Given the description of an element on the screen output the (x, y) to click on. 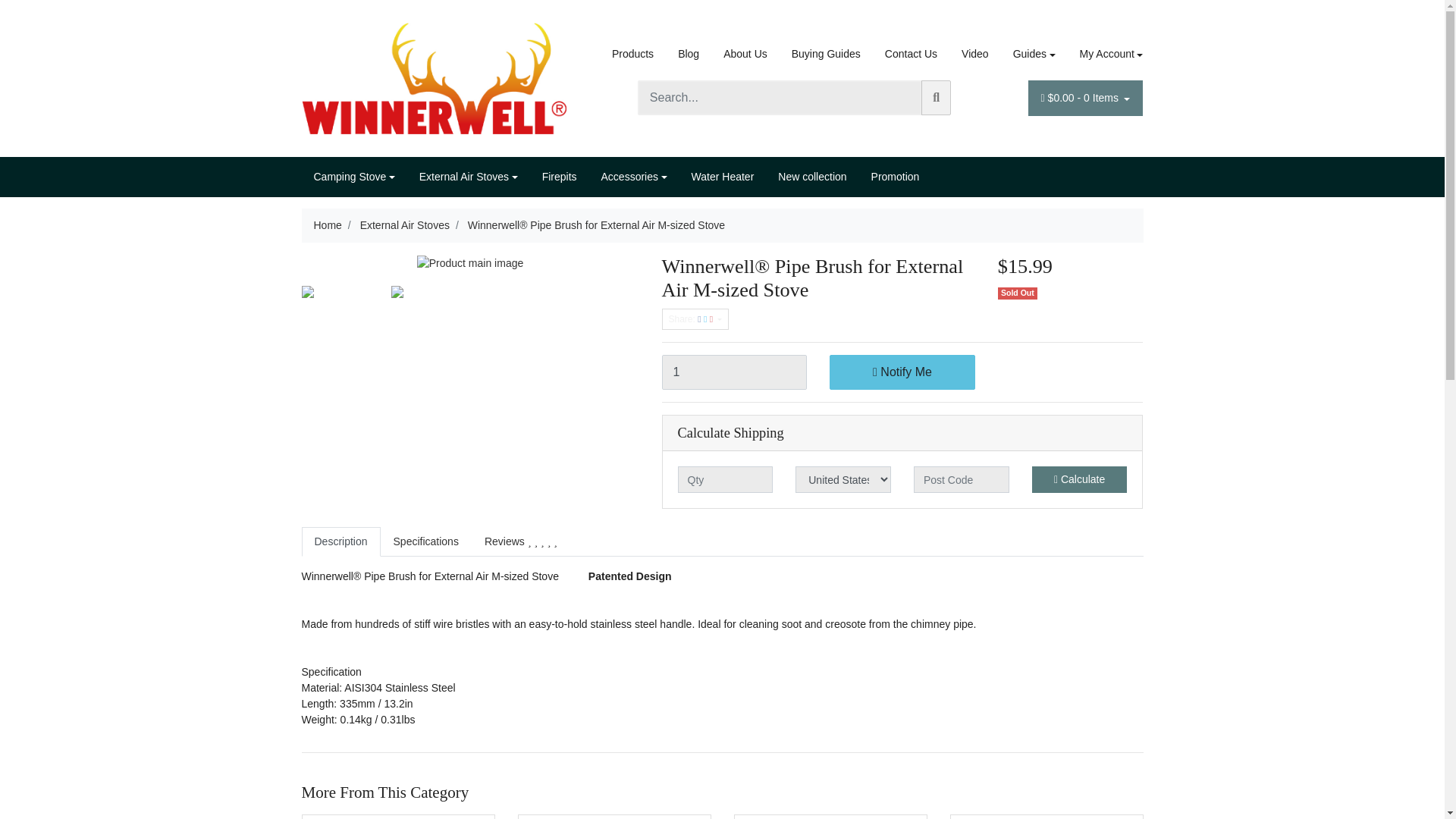
My Account (1104, 53)
About Us (744, 53)
External Air Stoves (468, 176)
Winnerwell US (434, 77)
Firepits (559, 176)
Calculate (1079, 479)
Water Heater (723, 176)
Buying Guides (825, 53)
1 (733, 371)
Accessories (634, 176)
